Given the description of an element on the screen output the (x, y) to click on. 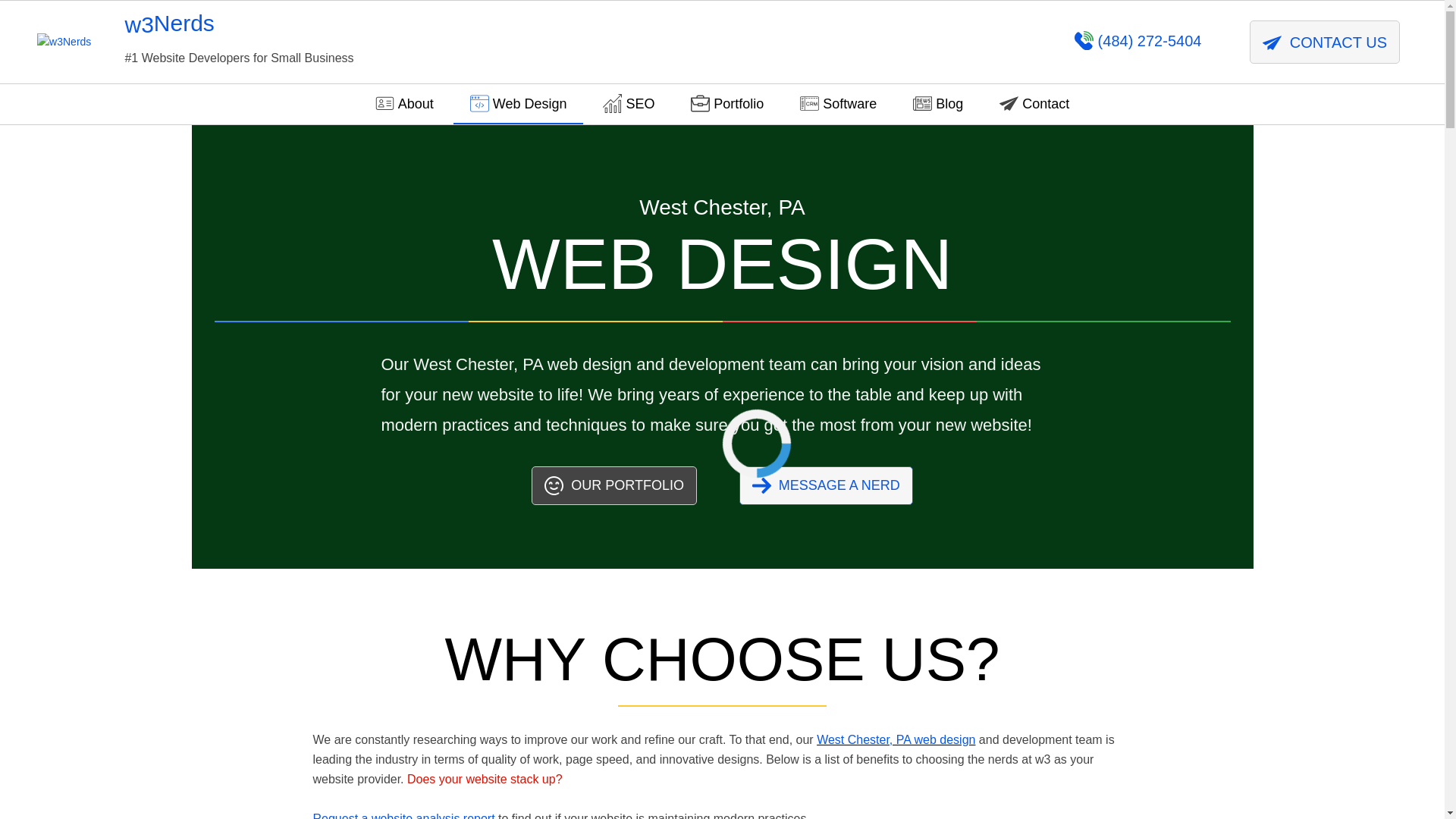
SEO (628, 103)
Contact w3 (825, 485)
Portfolio (614, 485)
Request a website analysis report (404, 815)
Request Website Analysis (404, 815)
Contact (1034, 103)
Web Design (517, 103)
Contact Page (1034, 103)
SEO (628, 103)
Web Design (517, 103)
